Given the description of an element on the screen output the (x, y) to click on. 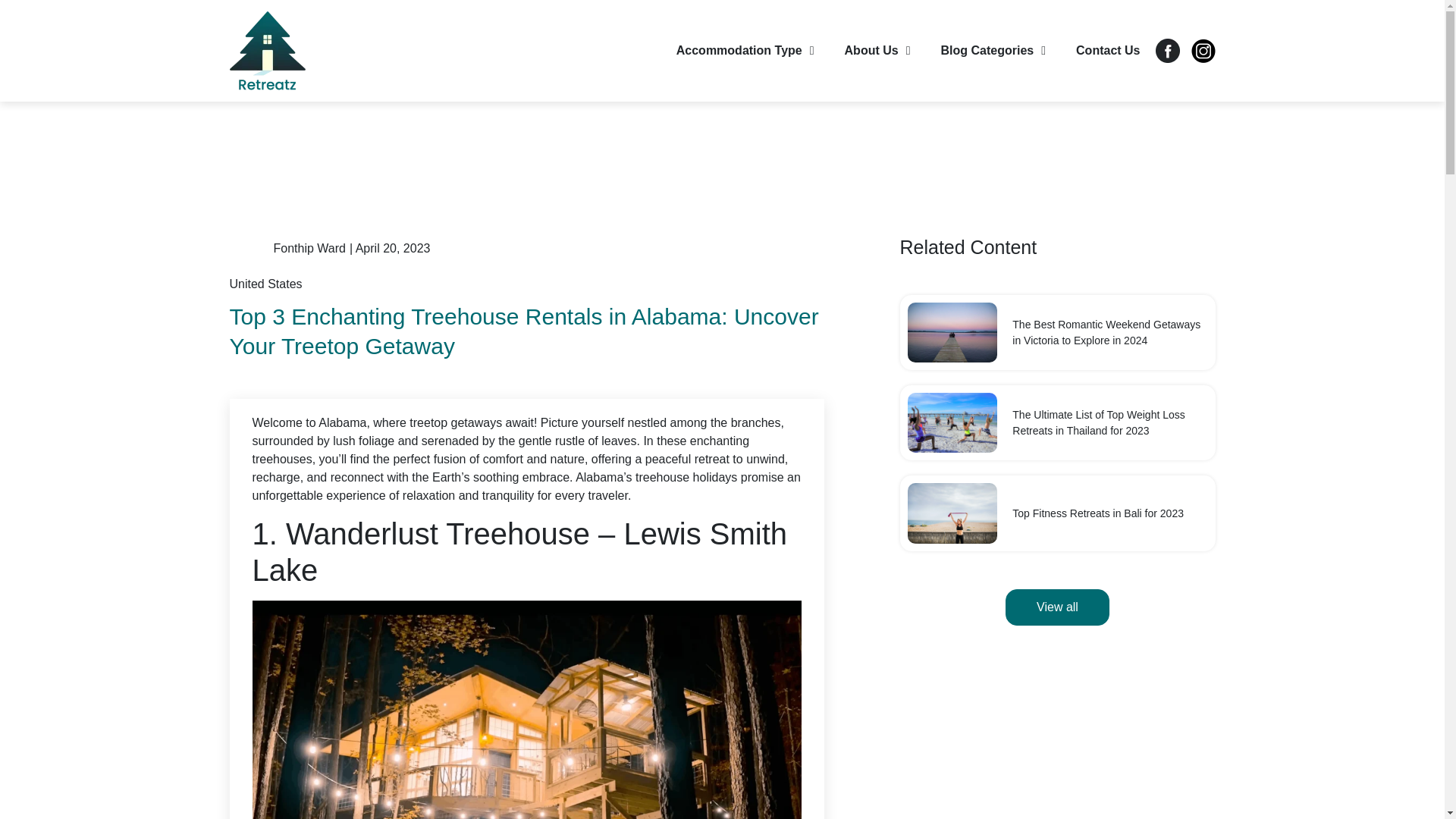
Top Fitness Retreats in Bali for 2023 (1097, 512)
Contact Us (1107, 50)
Accommodation Type (745, 50)
About Us (877, 50)
Blog Categories (993, 50)
United States (264, 284)
View all (1057, 606)
